Given the description of an element on the screen output the (x, y) to click on. 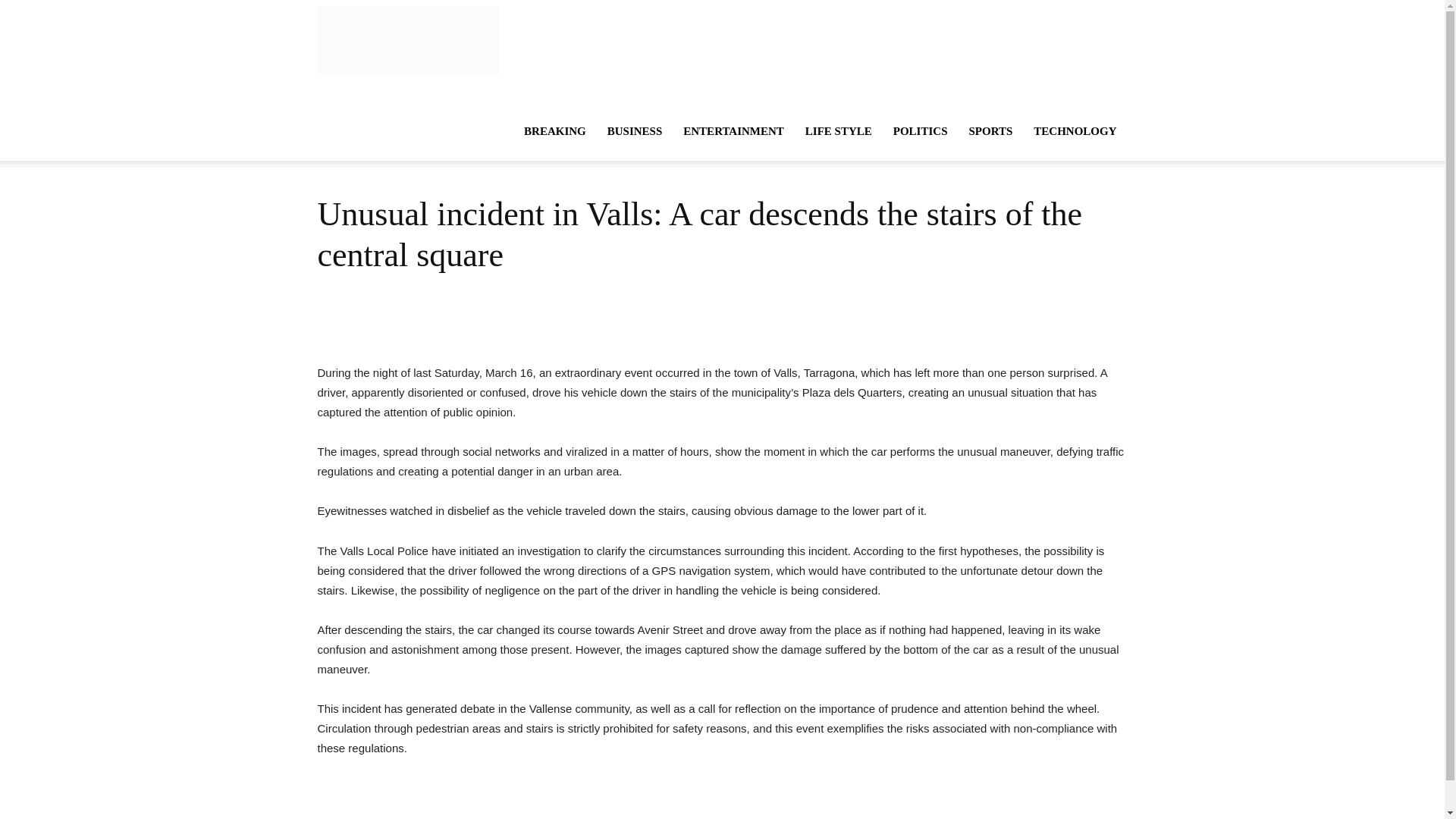
LIFE STYLE (838, 130)
SPORTS (990, 130)
ENTERTAINMENT (733, 130)
BUSINESS (634, 130)
POLITICS (920, 130)
Daily News and Headlines from US (407, 39)
Headlines from America (407, 39)
TECHNOLOGY (1074, 130)
BREAKING (554, 130)
